Given the description of an element on the screen output the (x, y) to click on. 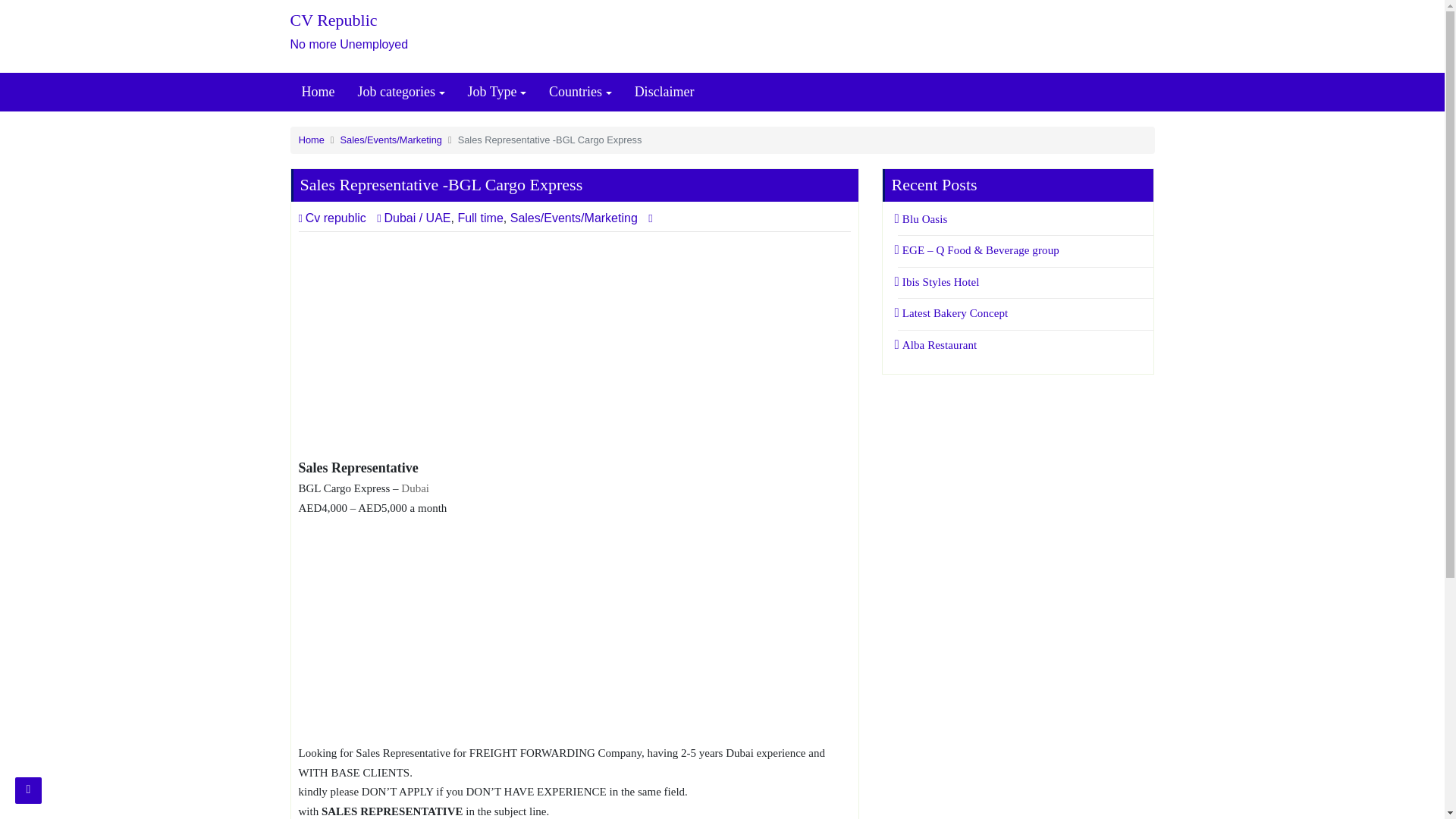
Job categories (400, 91)
Advertisement (425, 32)
Advertisement (574, 631)
Home (574, 344)
